Given the description of an element on the screen output the (x, y) to click on. 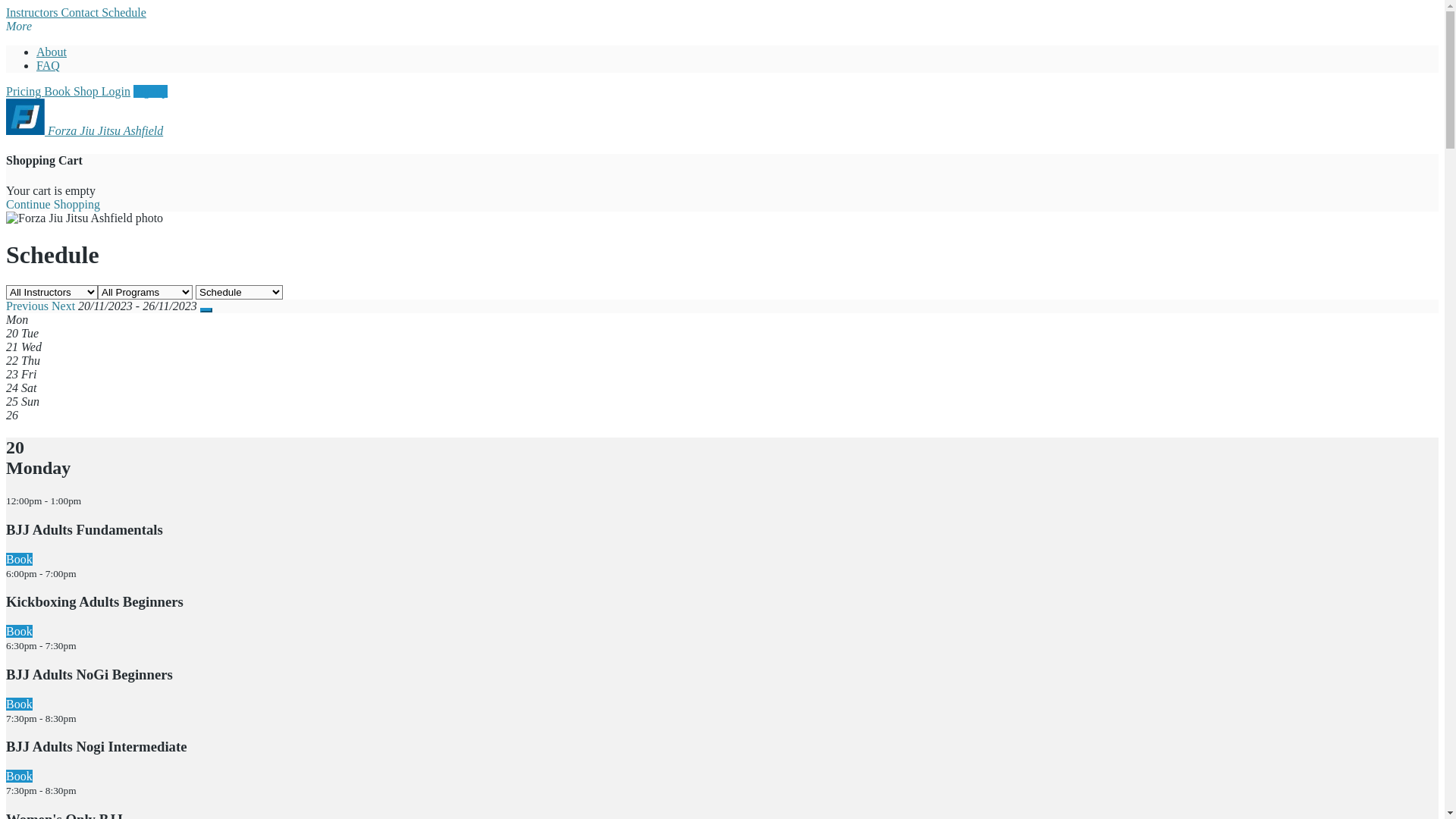
Signup Element type: text (150, 90)
Schedule Element type: text (123, 12)
Pricing Element type: text (24, 90)
Contact Element type: text (80, 12)
Continue Shopping Element type: text (53, 203)
FAQ Element type: text (47, 65)
Book Element type: text (19, 703)
Book Element type: text (19, 775)
About Element type: text (51, 51)
Forza Jiu Jitsu Ashfield Element type: text (84, 130)
Date picker Element type: hover (206, 309)
Login Element type: text (115, 90)
Book Element type: text (19, 630)
Book Element type: text (58, 90)
Instructors Element type: text (33, 12)
Next Element type: text (63, 305)
Shop Element type: text (87, 90)
Book Element type: text (19, 558)
Previous Element type: text (27, 305)
